Given the description of an element on the screen output the (x, y) to click on. 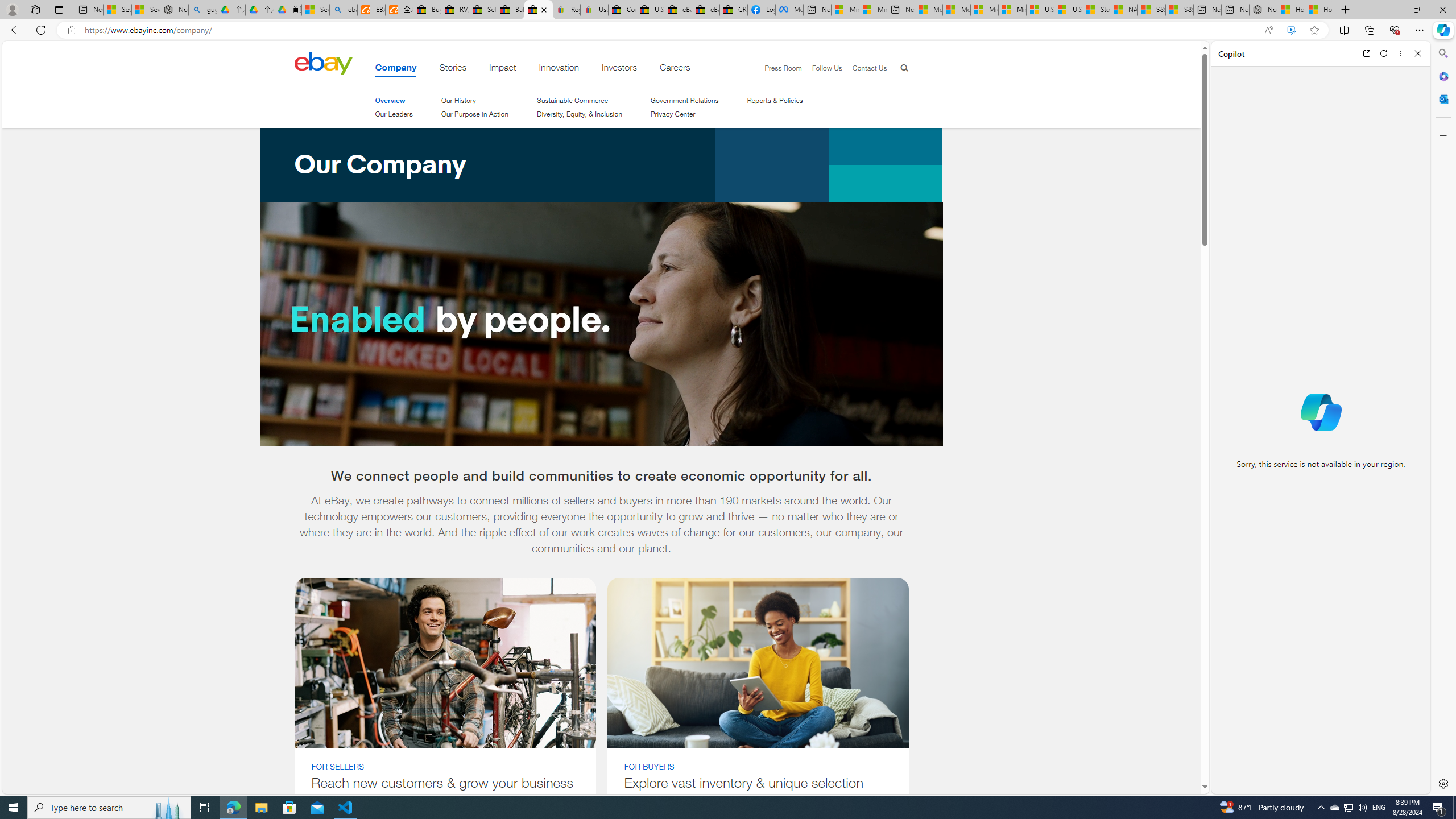
Investors (619, 69)
Government Relations (684, 100)
Side bar (1443, 418)
Enhance video (1291, 29)
Baby Keepsakes & Announcements for sale | eBay (510, 9)
S&P 500, Nasdaq end lower, weighed by Nvidia dip | Watch (1179, 9)
Company (395, 69)
Reports & Policies (774, 100)
User Privacy Notice | eBay (593, 9)
ebay - Search (343, 9)
Follow Us (826, 67)
Careers (674, 69)
